Given the description of an element on the screen output the (x, y) to click on. 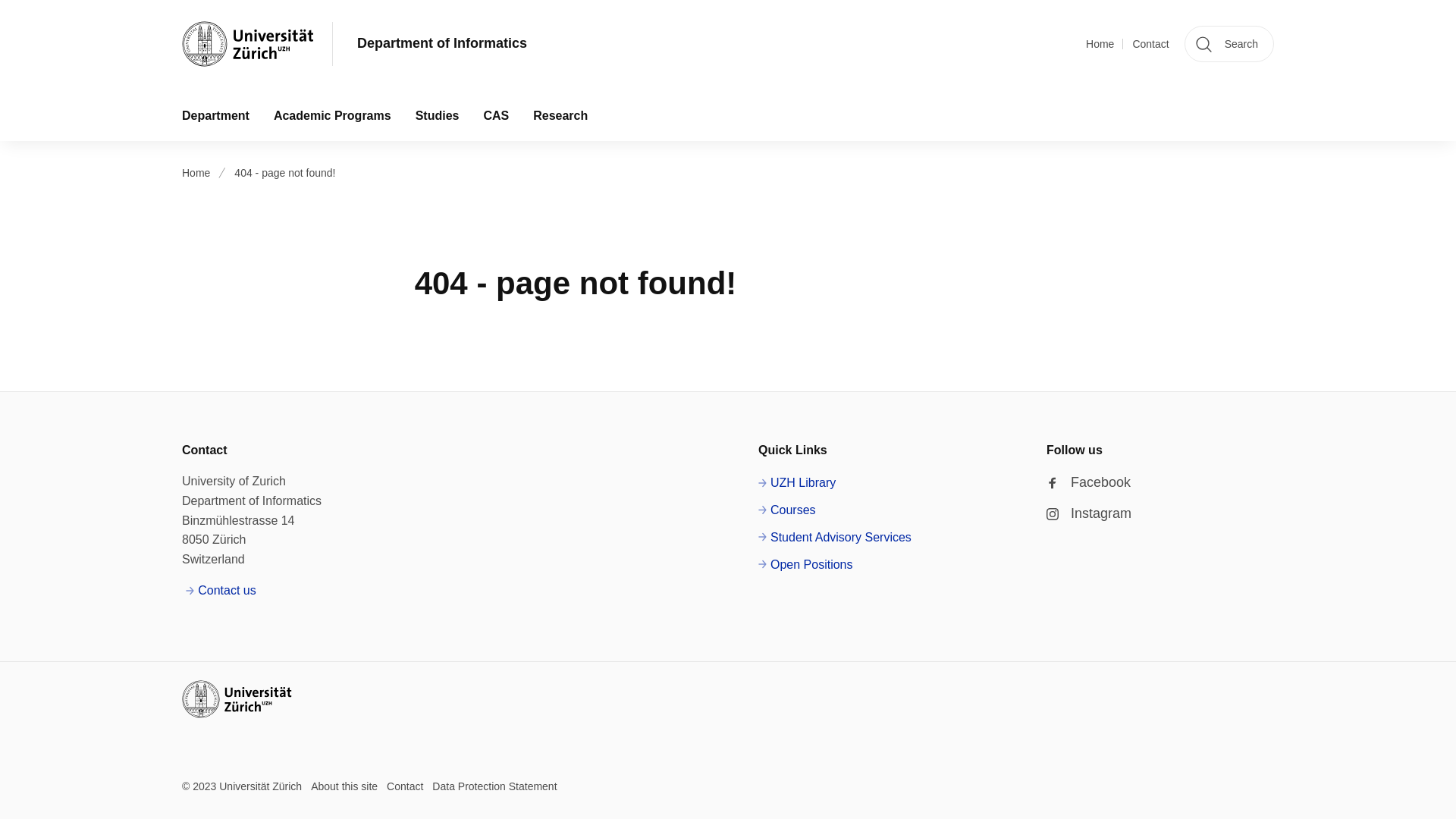
Search (1229, 43)
Home (1099, 44)
Open Positions (805, 564)
Courses (786, 510)
Department of Informatics (441, 43)
UZH Library (796, 483)
Student Advisory Services (834, 537)
Contact (1150, 44)
Department (216, 115)
Academic Programs (332, 115)
